Given the description of an element on the screen output the (x, y) to click on. 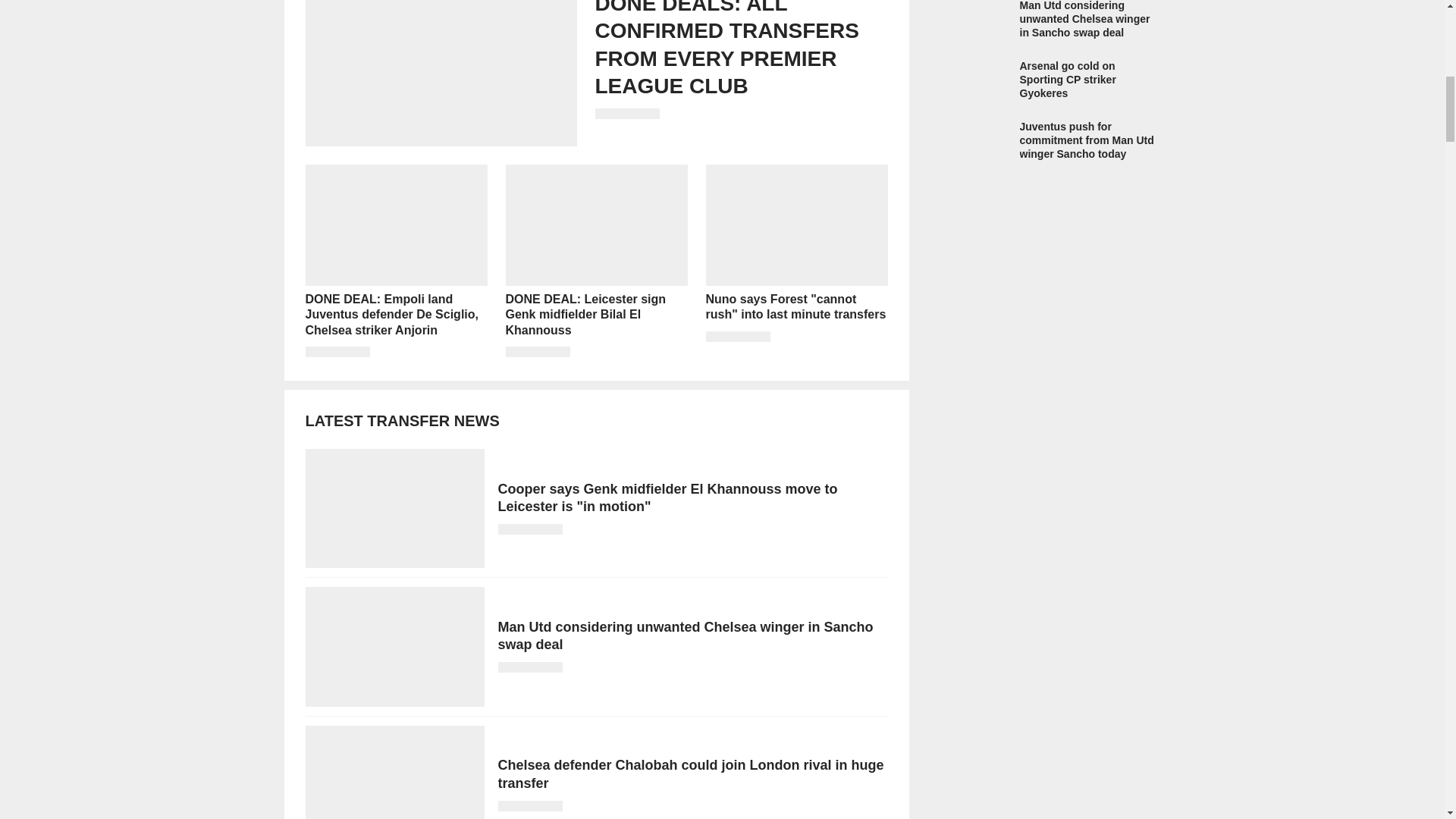
DONE DEAL: Leicester sign Genk midfielder Bilal El Khannouss (596, 260)
DONE DEAL: Leicester sign Genk midfielder Bilal El Khannouss (596, 260)
